Given the description of an element on the screen output the (x, y) to click on. 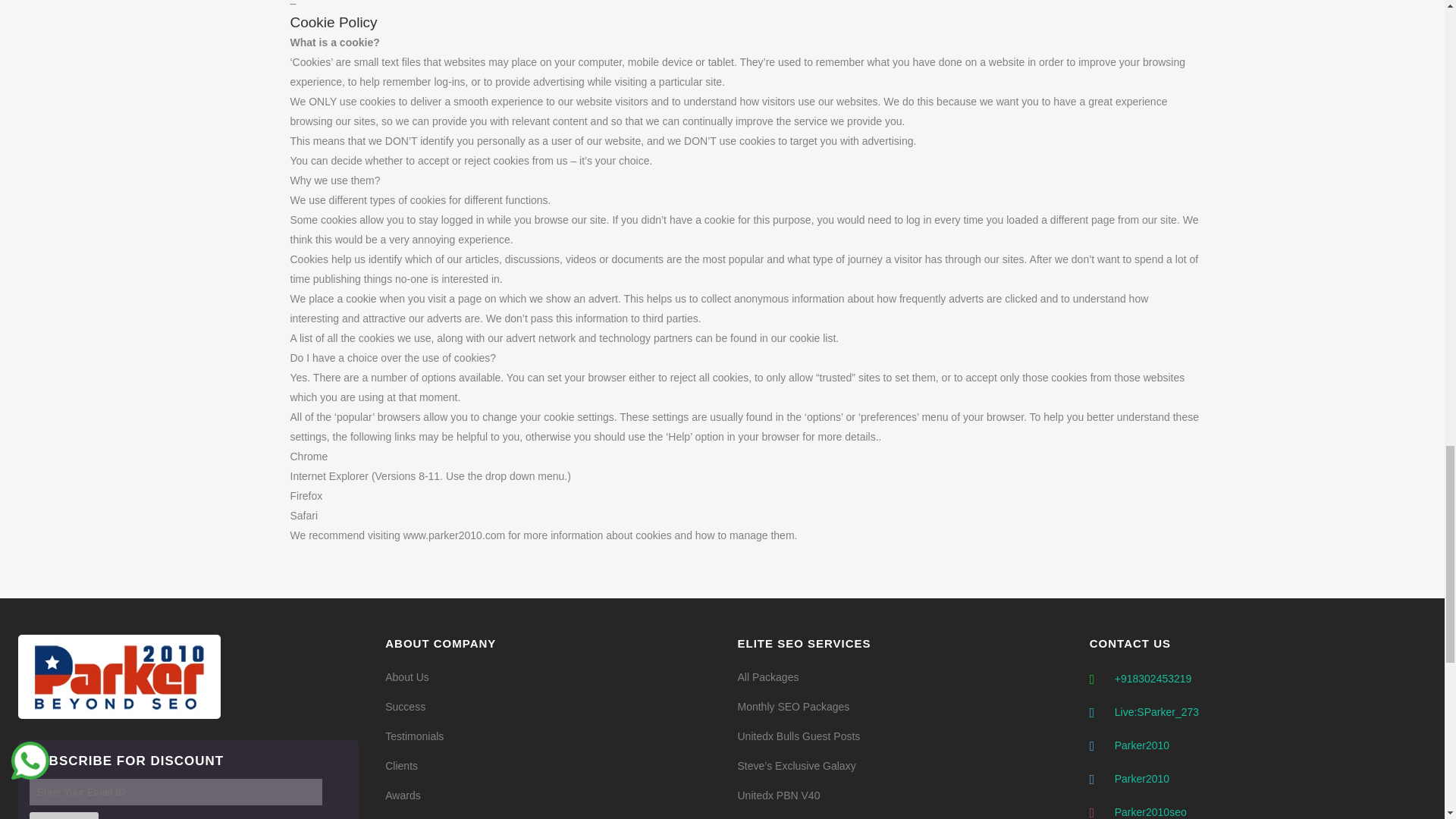
Subscribe (64, 815)
